Given the description of an element on the screen output the (x, y) to click on. 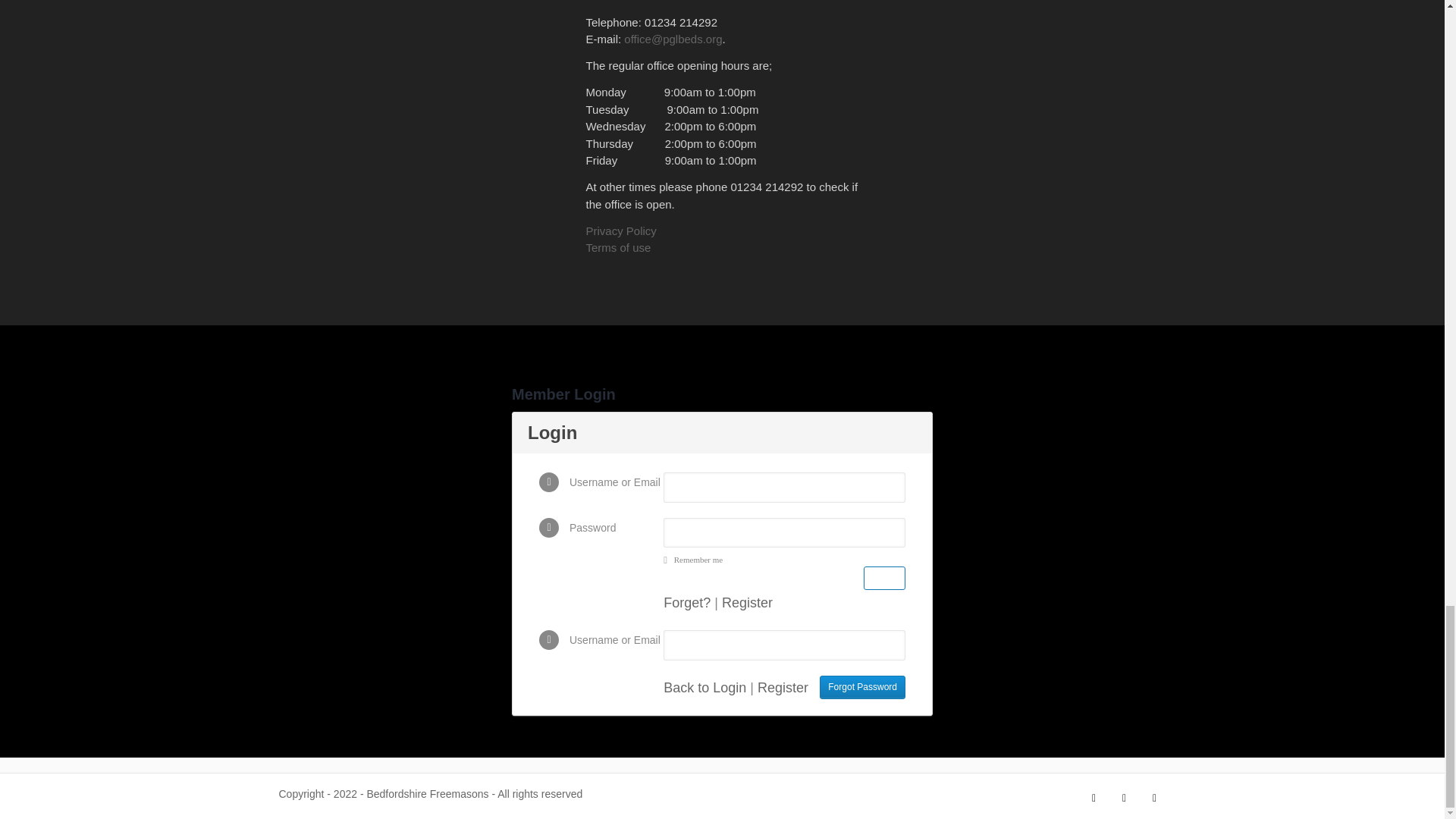
Back to Login (704, 687)
Forgot Password (862, 687)
Forget? (686, 602)
Log In (884, 578)
